Given the description of an element on the screen output the (x, y) to click on. 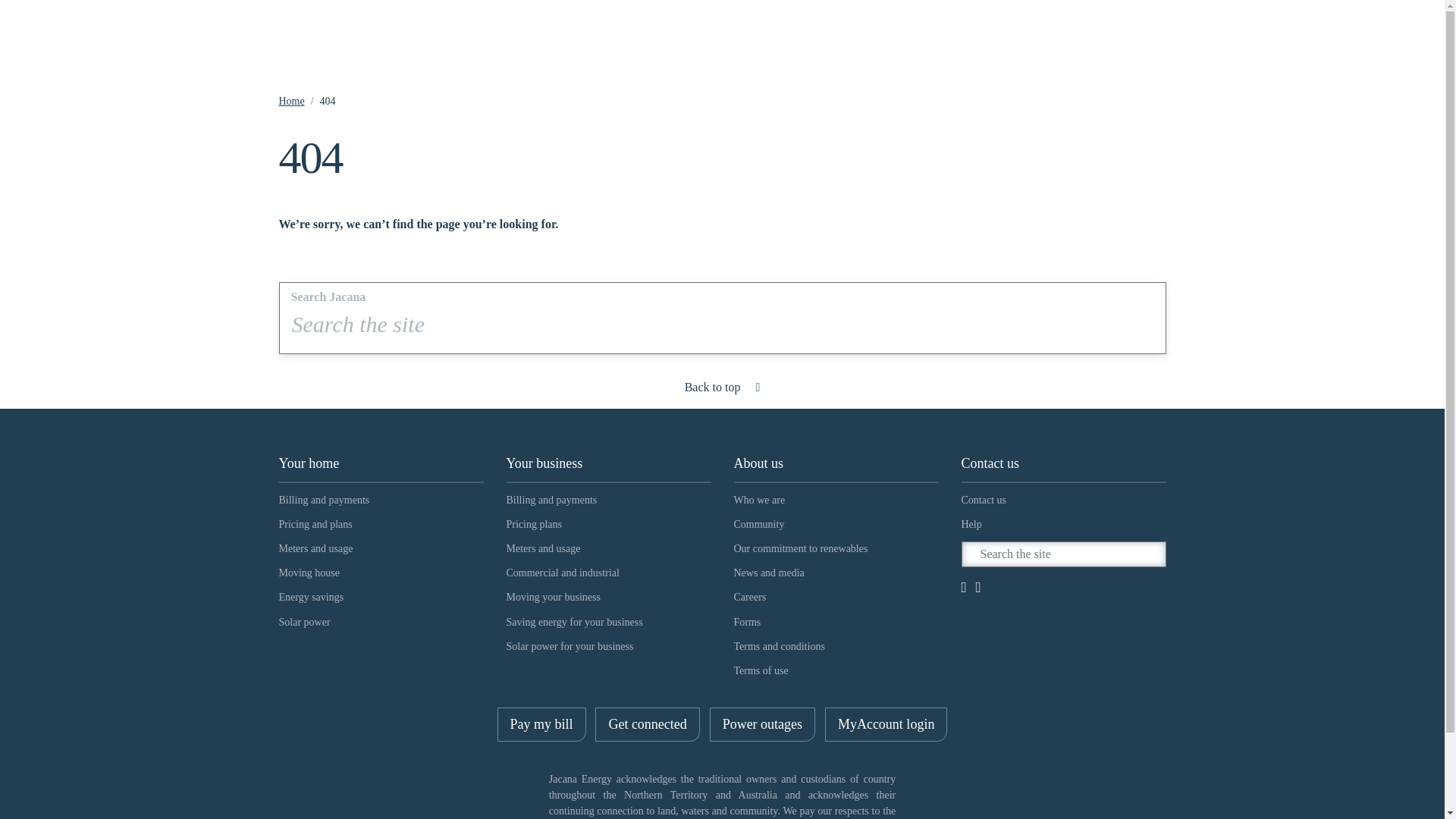
Forms Element type: text (836, 623)
Billing and payments Element type: text (608, 501)
Contact us Element type: text (1063, 464)
Facebook Element type: hover (965, 587)
LinkedIn Element type: hover (978, 587)
About us Element type: text (836, 464)
Billing and payments Element type: text (381, 501)
Your home Element type: text (381, 464)
Who we are Element type: text (836, 501)
Community Element type: text (836, 526)
Moving your business Element type: text (608, 598)
Solar power for your business Element type: text (608, 648)
Get connected Element type: text (647, 724)
Power outages Element type: text (762, 724)
Help Element type: text (1063, 526)
Pricing and plans Element type: text (381, 526)
Careers Element type: text (836, 598)
Solar power Element type: text (381, 623)
Terms and conditions Element type: text (836, 648)
Skip to main content Element type: text (0, 0)
Terms of use Element type: text (836, 672)
Commercial and industrial Element type: text (608, 574)
Our commitment to renewables Element type: text (836, 550)
Saving energy for your business Element type: text (608, 623)
Contact us Element type: text (1063, 501)
Energy savings Element type: text (381, 598)
Back to top Element type: text (722, 387)
MyAccount login Element type: text (886, 724)
Home Element type: text (291, 100)
Moving house Element type: text (381, 574)
Pay my bill Element type: text (541, 724)
Meters and usage Element type: text (381, 550)
Pricing plans Element type: text (608, 526)
News and media Element type: text (836, 574)
Meters and usage Element type: text (608, 550)
Your business Element type: text (608, 464)
